Given the description of an element on the screen output the (x, y) to click on. 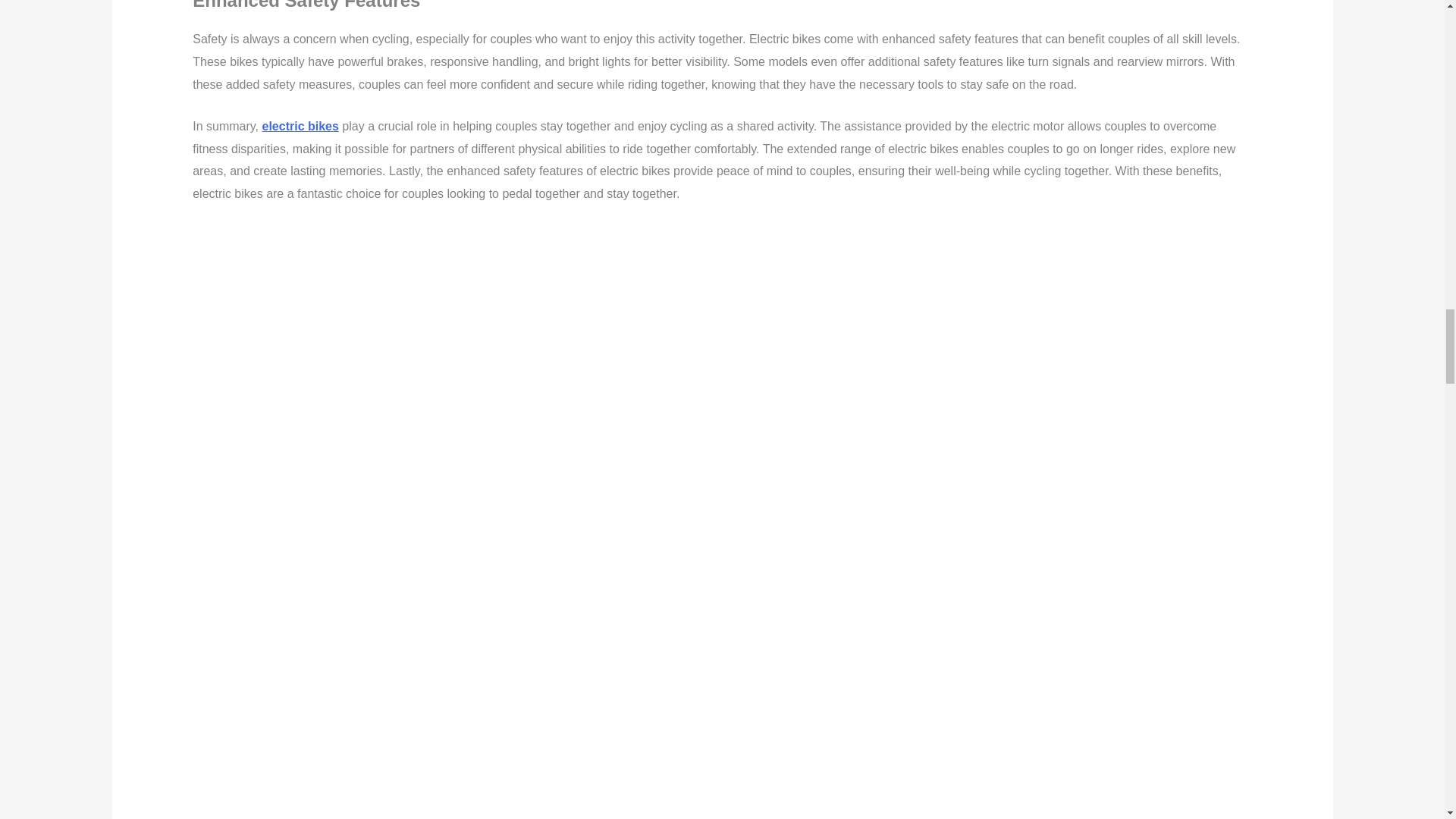
electric bikes (300, 125)
